Given the description of an element on the screen output the (x, y) to click on. 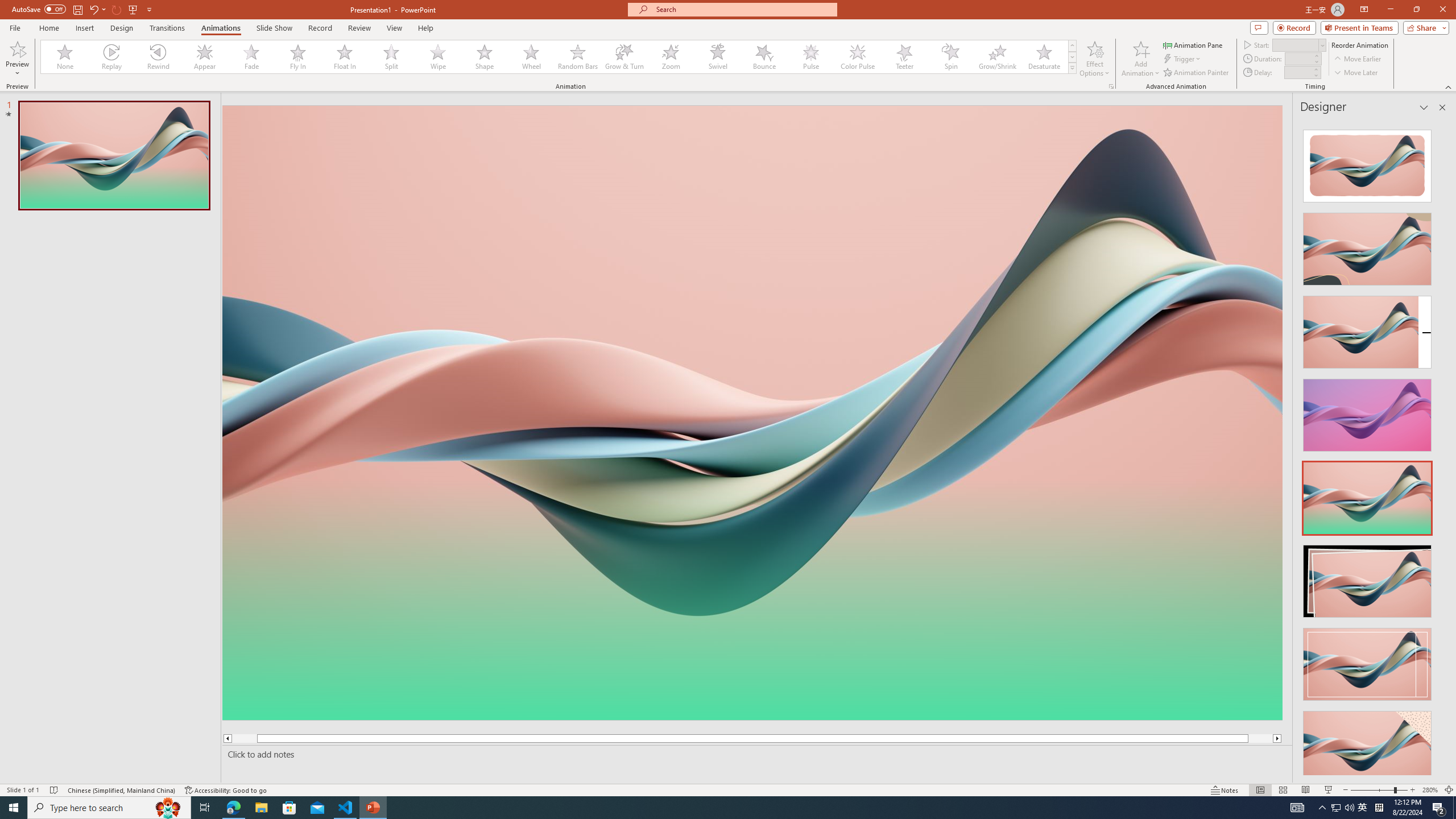
Swivel (717, 56)
Animation Painter (1196, 72)
Grow & Turn (624, 56)
Replay (111, 56)
Wipe (437, 56)
None (65, 56)
Wavy 3D art (752, 412)
